Given the description of an element on the screen output the (x, y) to click on. 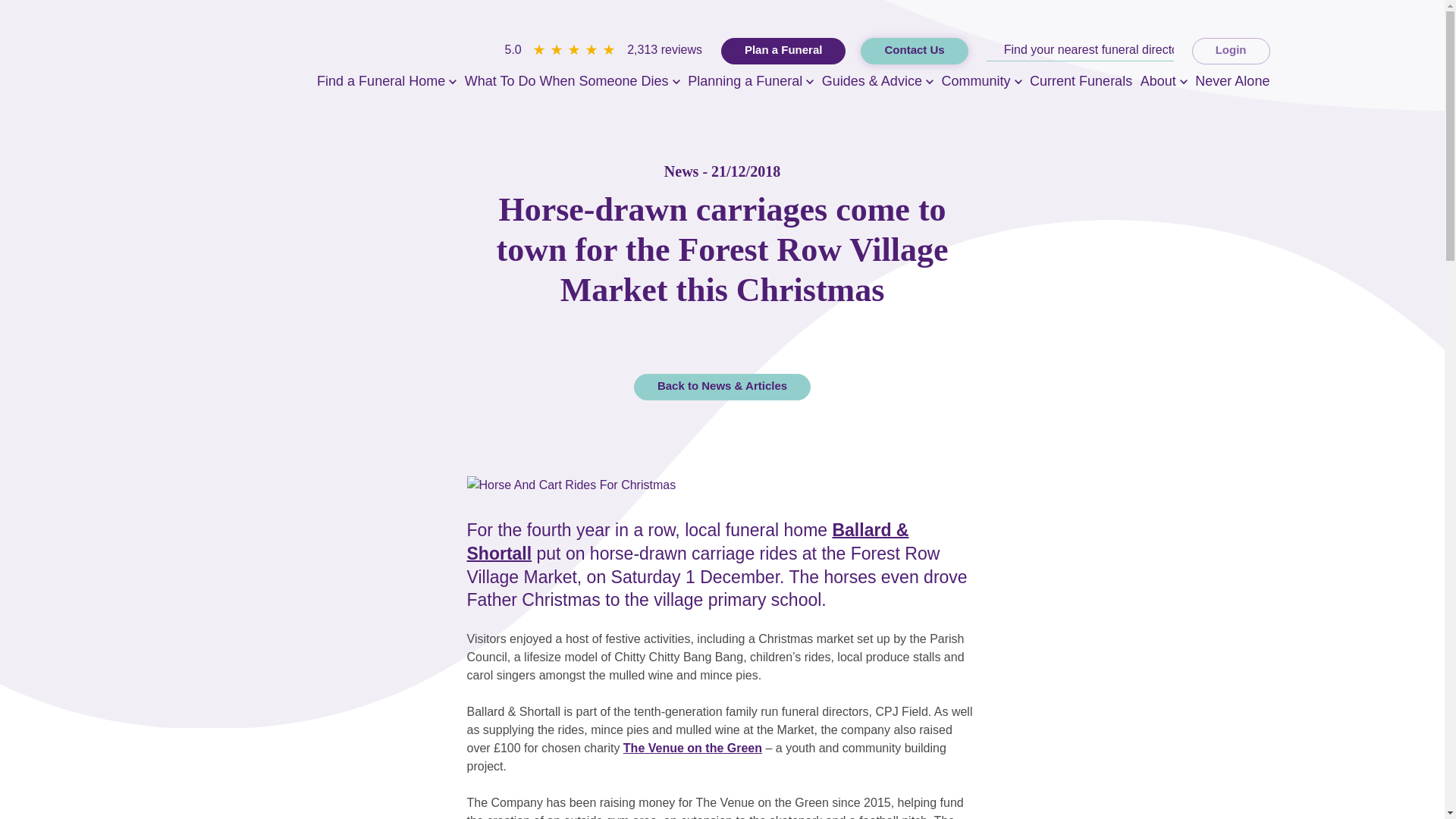
Login (1230, 50)
Home (219, 59)
Plan a Funeral (782, 50)
Contact Us (914, 50)
Find a Funeral Home (381, 84)
Share on Twitter (719, 336)
Share on LinkedIn (743, 336)
